Given the description of an element on the screen output the (x, y) to click on. 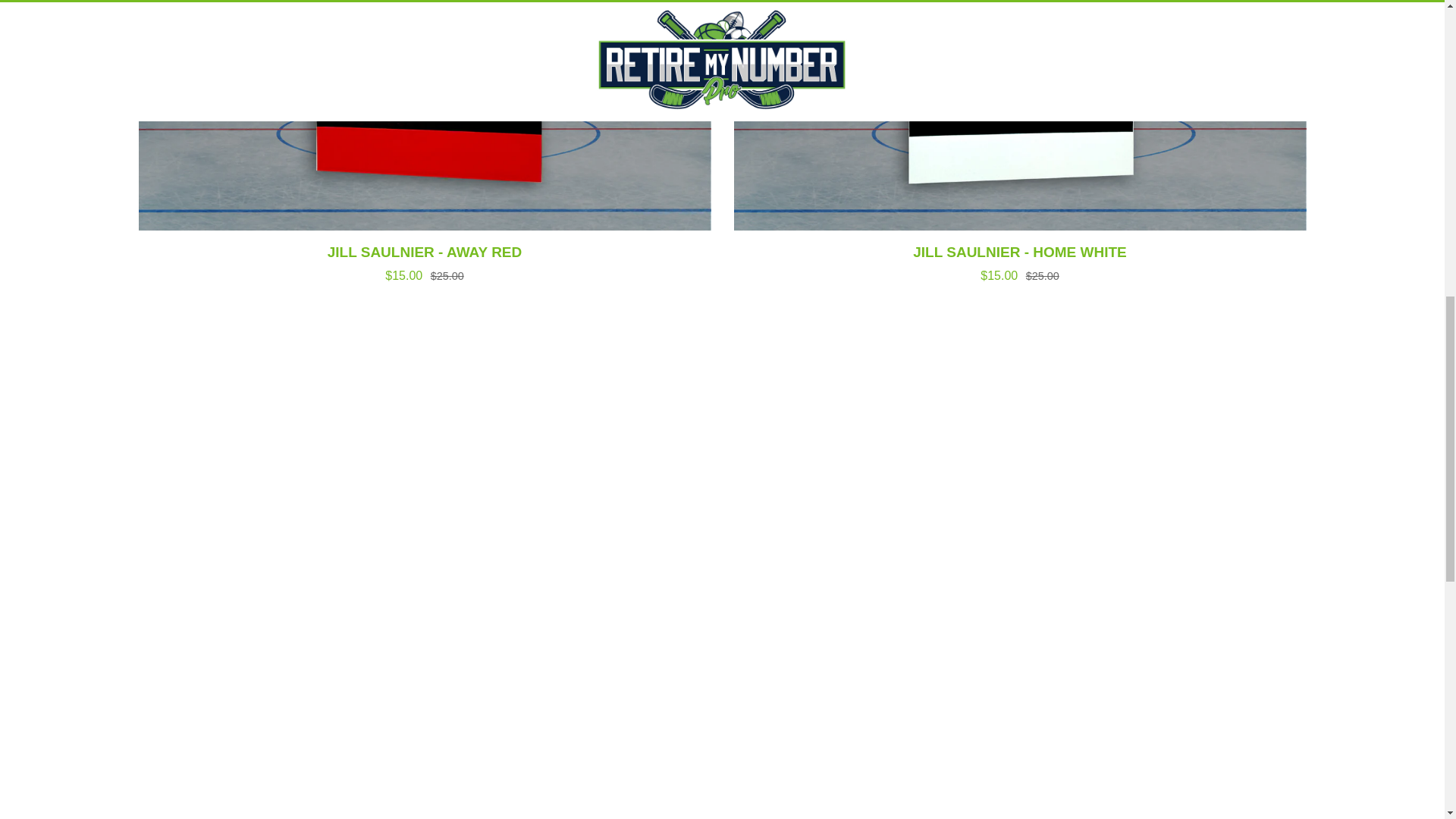
Jill Saulnier - Away Red (424, 115)
Jill Saulnier - Home White (1019, 260)
Jill Saulnier - Away Red (424, 260)
Jill Saulnier - Home White (1019, 115)
